Given the description of an element on the screen output the (x, y) to click on. 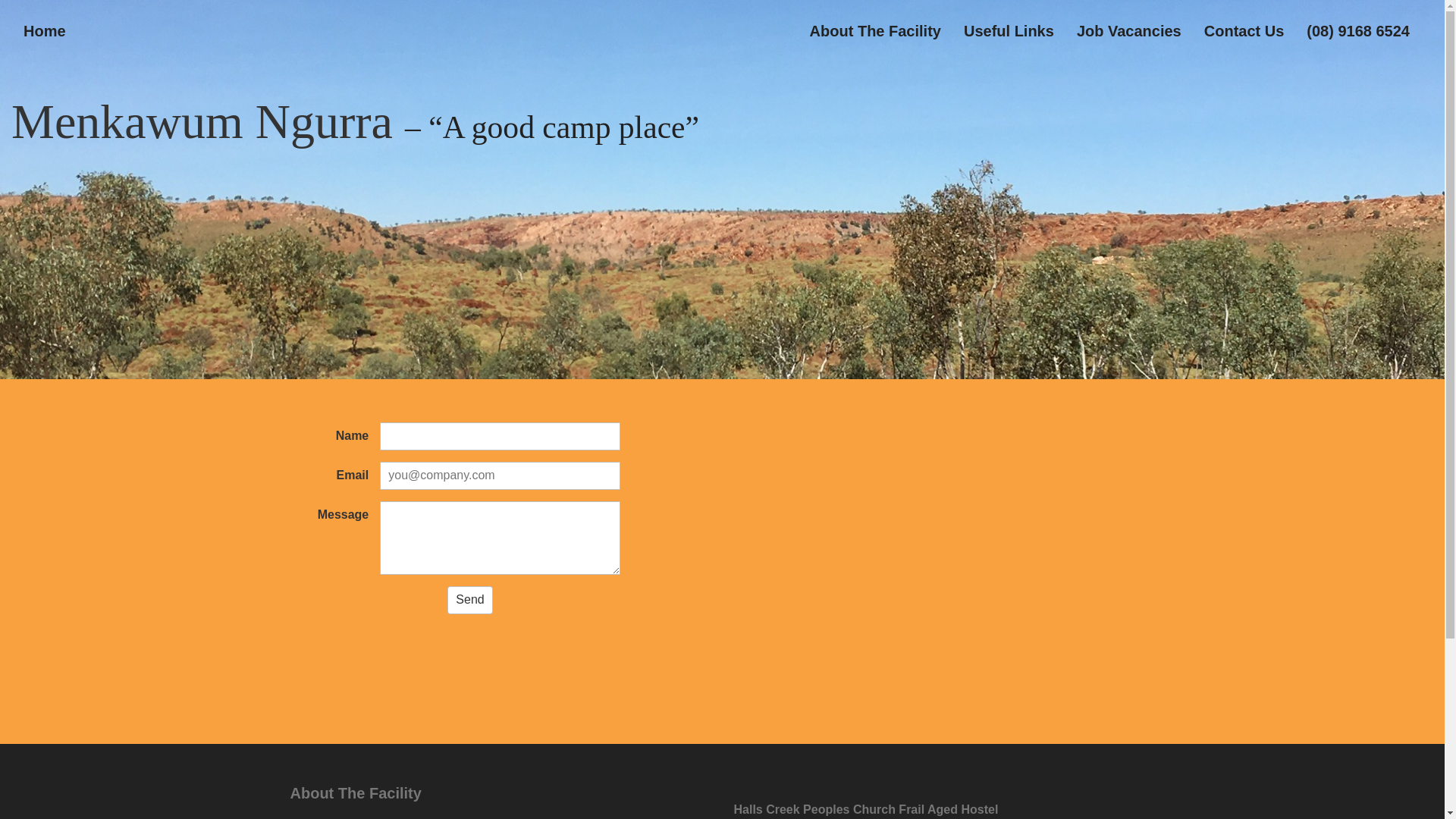
About The Facility Element type: text (495, 793)
Home Element type: text (44, 31)
Job Vacancies Element type: text (1128, 31)
Useful Links Element type: text (1008, 31)
About The Facility Element type: text (875, 31)
Contact Us Element type: text (1243, 31)
Send Element type: text (469, 600)
(08) 9168 6524 Element type: text (1358, 31)
